Given the description of an element on the screen output the (x, y) to click on. 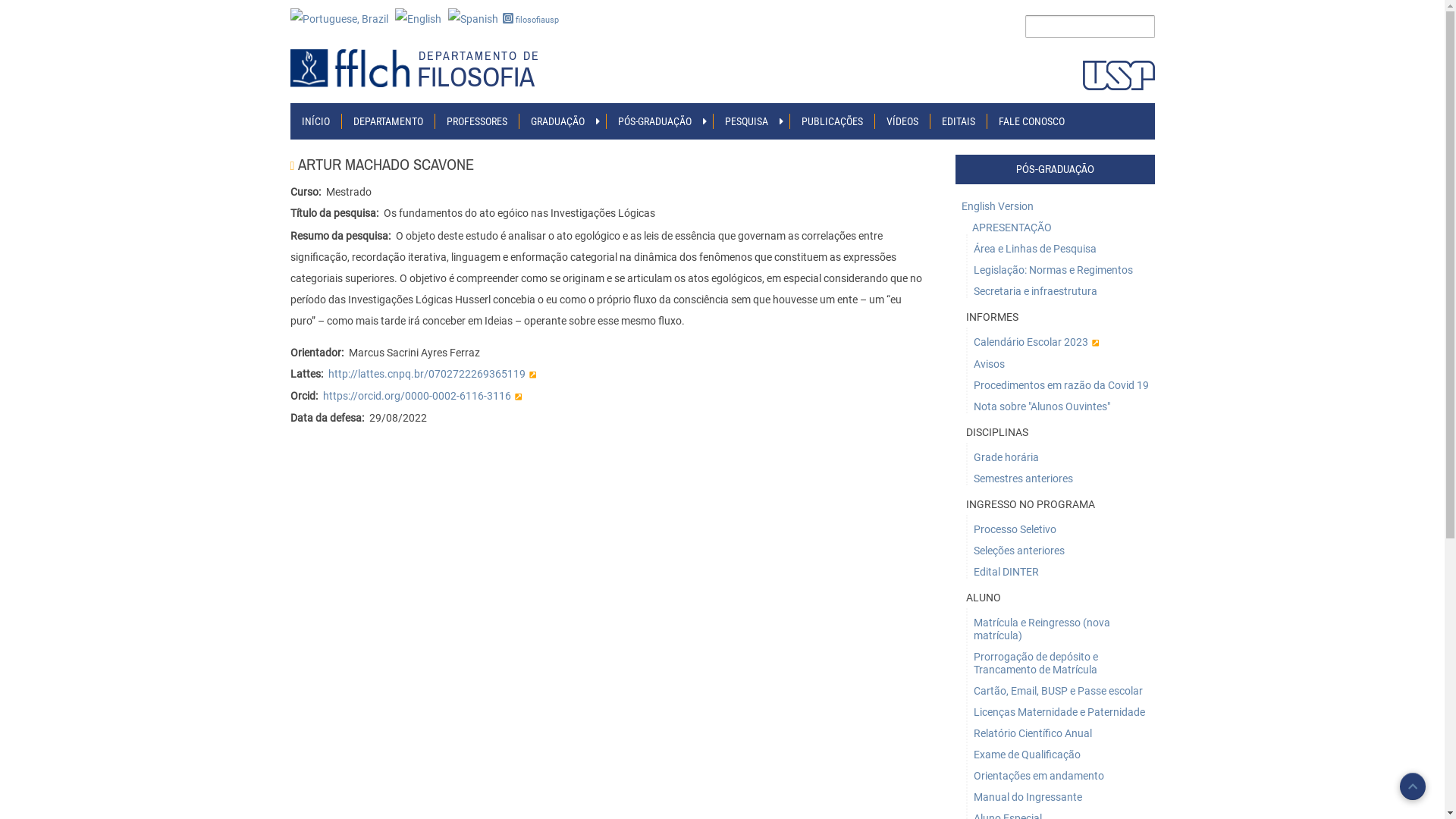
FALE CONOSCO Element type: text (1031, 121)
Buscar Element type: text (11, 14)
PROFESSORES Element type: text (476, 121)
PESQUISA Element type: text (746, 121)
Manual do Ingressante Element type: text (1060, 796)
Back to Top Element type: hover (1412, 786)
DEPARTAMENTO DE   Element type: text (483, 55)
English Version Element type: text (1053, 206)
English Element type: hover (417, 18)
Edital DINTER Element type: text (1060, 571)
Avisos Element type: text (1060, 363)
Secretaria e infraestrutura Element type: text (1060, 291)
EDITAIS Element type: text (958, 121)
DEPARTAMENTO Element type: text (387, 121)
Semestres anteriores Element type: text (1060, 478)
filosofiausp Element type: text (535, 20)
Spanish Element type: hover (472, 18)
https://orcid.org/0000-0002-6116-3116 Element type: text (422, 395)
Portuguese, Brazil Element type: hover (338, 18)
http://lattes.cnpq.br/0702722269365119 Element type: text (431, 373)
Nota sobre "Alunos Ouvintes" Element type: text (1060, 406)
Processo Seletivo Element type: text (1060, 529)
FILOSOFIA Element type: text (475, 76)
